Given the description of an element on the screen output the (x, y) to click on. 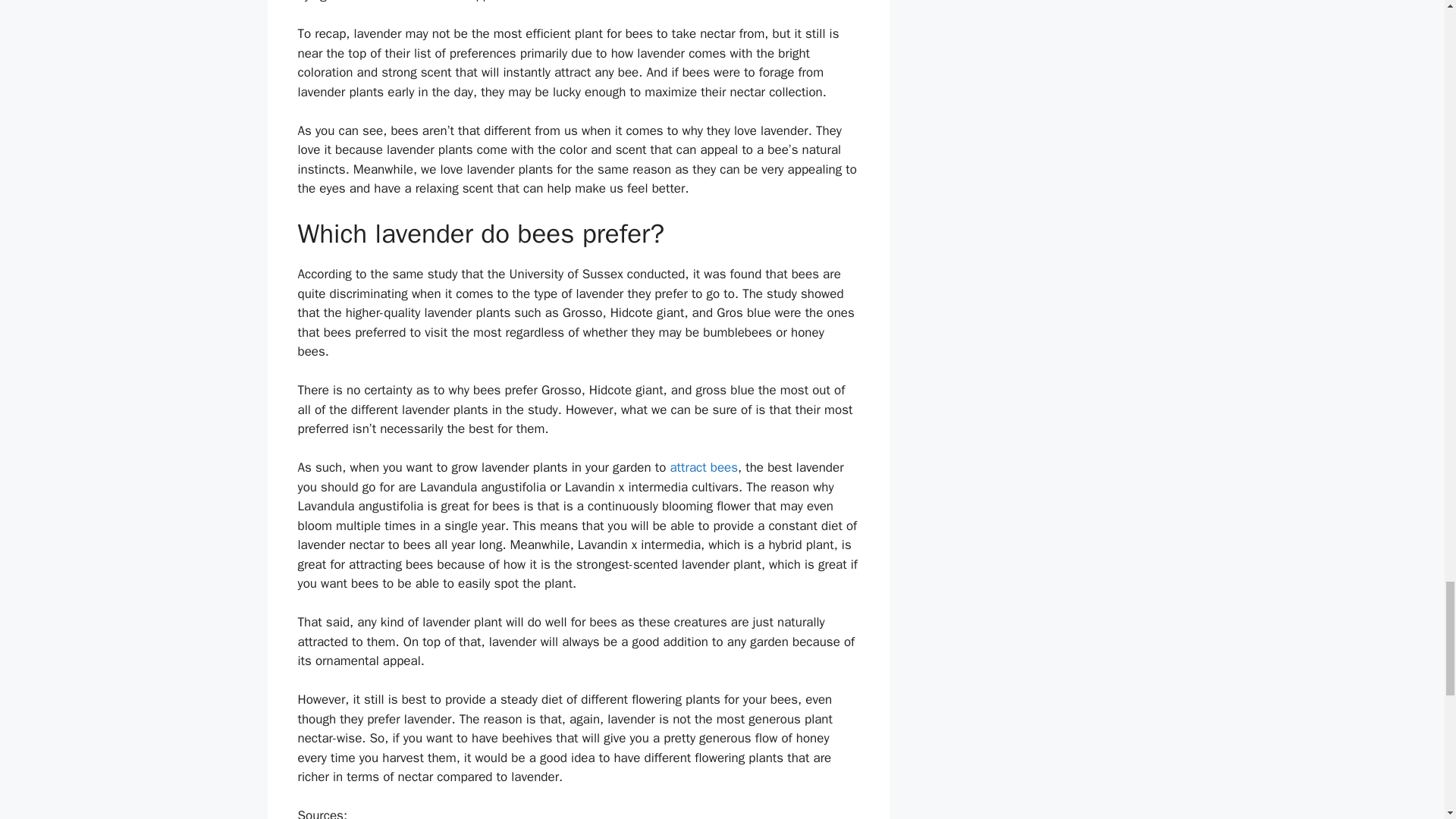
attract bees (703, 467)
attract bees (703, 467)
